Given the description of an element on the screen output the (x, y) to click on. 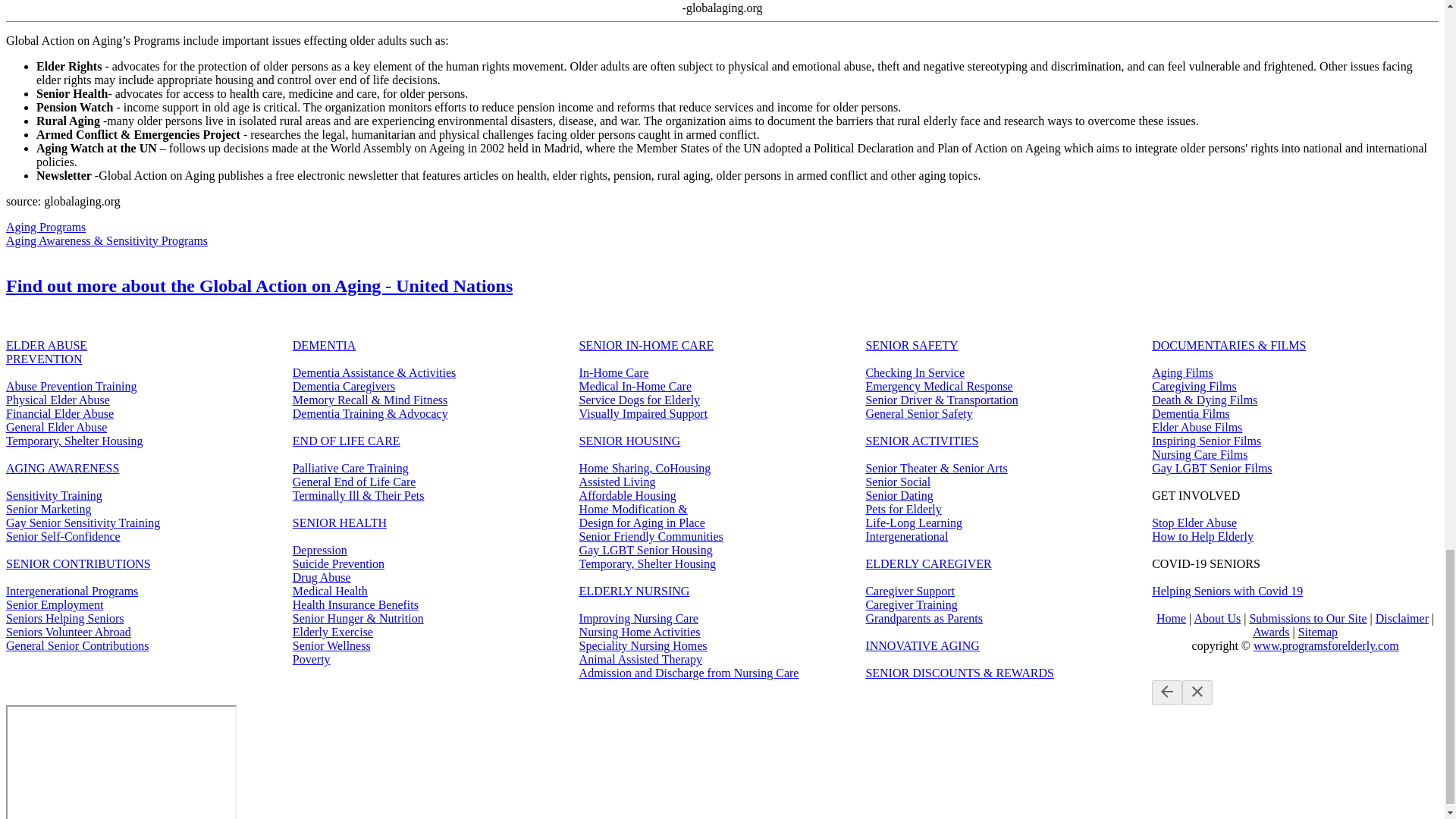
Sitemap (1318, 631)
Awards (1270, 631)
Aging Programs (45, 226)
